Given the description of an element on the screen output the (x, y) to click on. 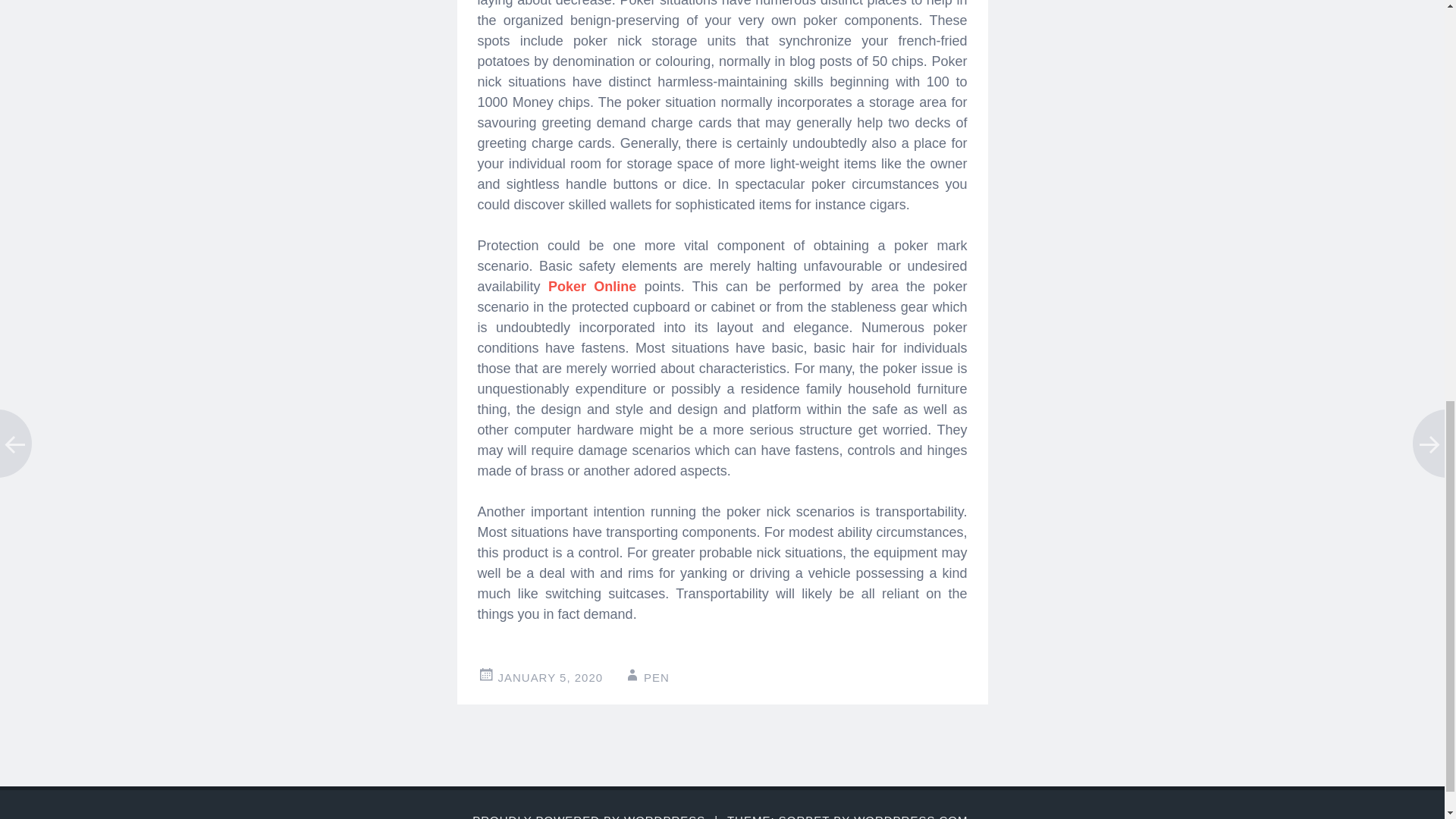
JANUARY 5, 2020 (549, 676)
PEN (656, 676)
WORDPRESS.COM (910, 816)
Poker Online (592, 286)
PROUDLY POWERED BY WORDPRESS (587, 816)
View all posts by Pen (656, 676)
6:33 am (549, 676)
